Given the description of an element on the screen output the (x, y) to click on. 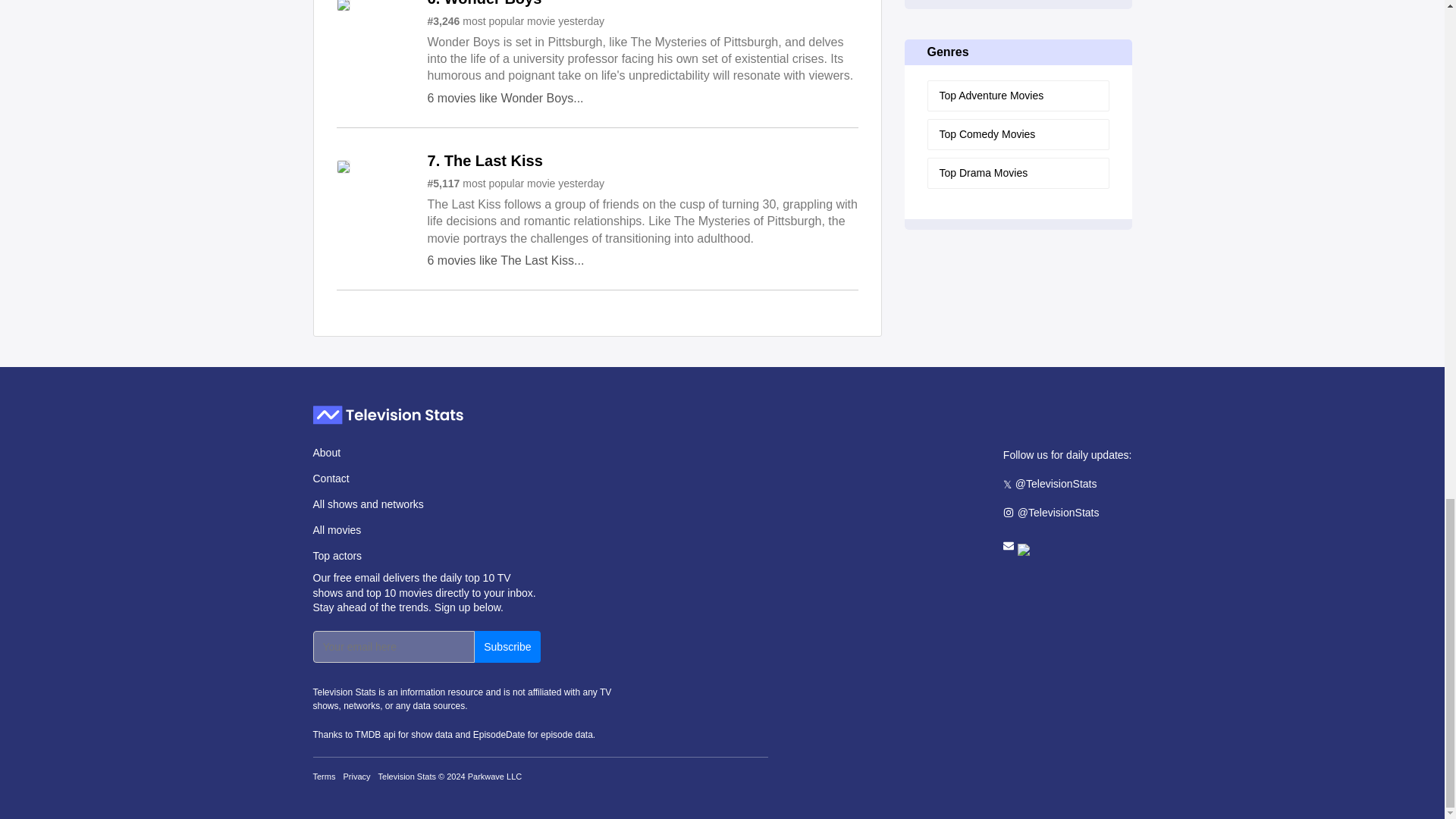
7. The Last Kiss (485, 161)
6 movies like Wonder Boys... (505, 97)
6 movies like The Last Kiss... (506, 259)
6. Wonder Boys (484, 2)
